Given the description of an element on the screen output the (x, y) to click on. 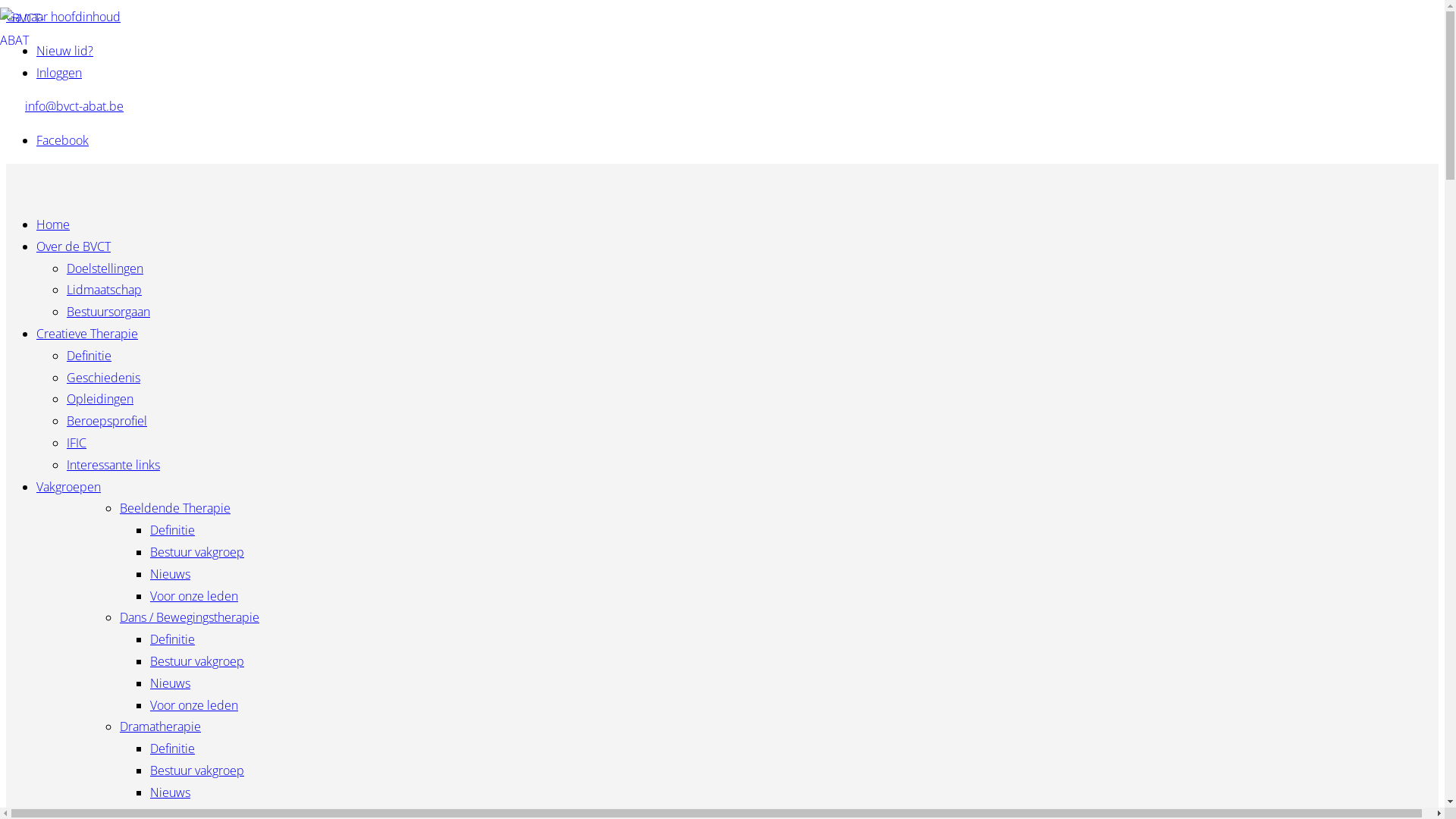
Lidmaatschap Element type: text (103, 289)
Ga naar hoofdinhoud Element type: text (63, 16)
Nieuws Element type: text (170, 792)
Bestuur vakgroep Element type: text (197, 551)
Dramatherapie Element type: text (159, 726)
Dans / Bewegingstherapie Element type: text (189, 616)
Creatieve Therapie Element type: text (87, 333)
Inloggen Element type: text (58, 72)
Beeldende Therapie Element type: text (174, 507)
Bestuur vakgroep Element type: text (197, 770)
Definitie Element type: text (172, 748)
Over de BVCT Element type: text (73, 246)
Opleidingen Element type: text (99, 398)
Interessante links Element type: text (113, 464)
Nieuws Element type: text (170, 682)
Voor onze leden Element type: text (194, 595)
Geschiedenis Element type: text (103, 377)
Nieuws Element type: text (170, 573)
Nieuw lid? Element type: text (64, 50)
Facebook Element type: text (62, 139)
Vakgroepen Element type: text (68, 486)
info@bvct-abat.be Element type: text (74, 105)
IFIC Element type: text (76, 442)
Definitie Element type: text (172, 529)
Definitie Element type: text (172, 638)
Doelstellingen Element type: text (104, 268)
Voor onze leden Element type: text (194, 704)
Definitie Element type: text (88, 355)
Bestuursorgaan Element type: text (108, 311)
Bestuur vakgroep Element type: text (197, 660)
Beroepsprofiel Element type: text (106, 420)
Home Element type: text (52, 224)
